Given the description of an element on the screen output the (x, y) to click on. 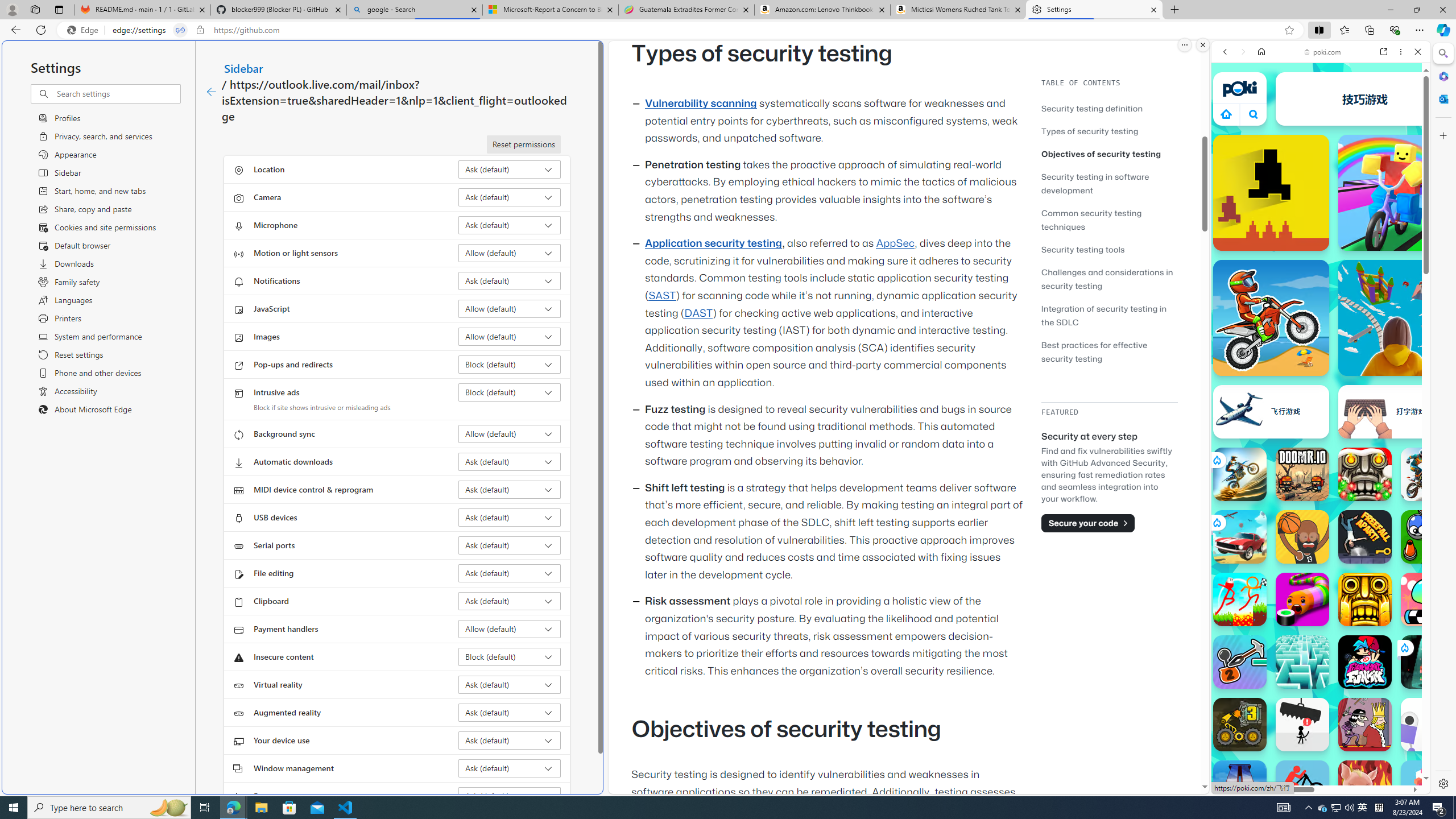
Blumgi Slime Blumgi Slime (1427, 599)
Close split screen. (1202, 45)
Maze: Path of Light (1302, 661)
Objectives of security testing (1109, 153)
Friday Night Funkin' (1364, 661)
Show More Two Player Games (1390, 323)
Best practices for effective security testing (1094, 351)
Rainbow Obby (1396, 192)
Poki - Free Online Games - Play Now! (1315, 175)
Security testing definition (1109, 108)
